Given the description of an element on the screen output the (x, y) to click on. 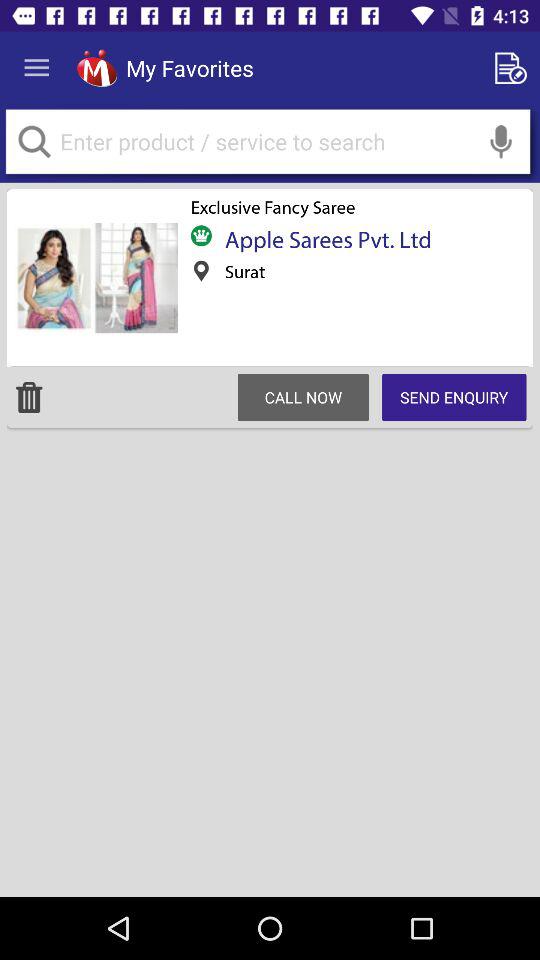
delete (29, 397)
